Given the description of an element on the screen output the (x, y) to click on. 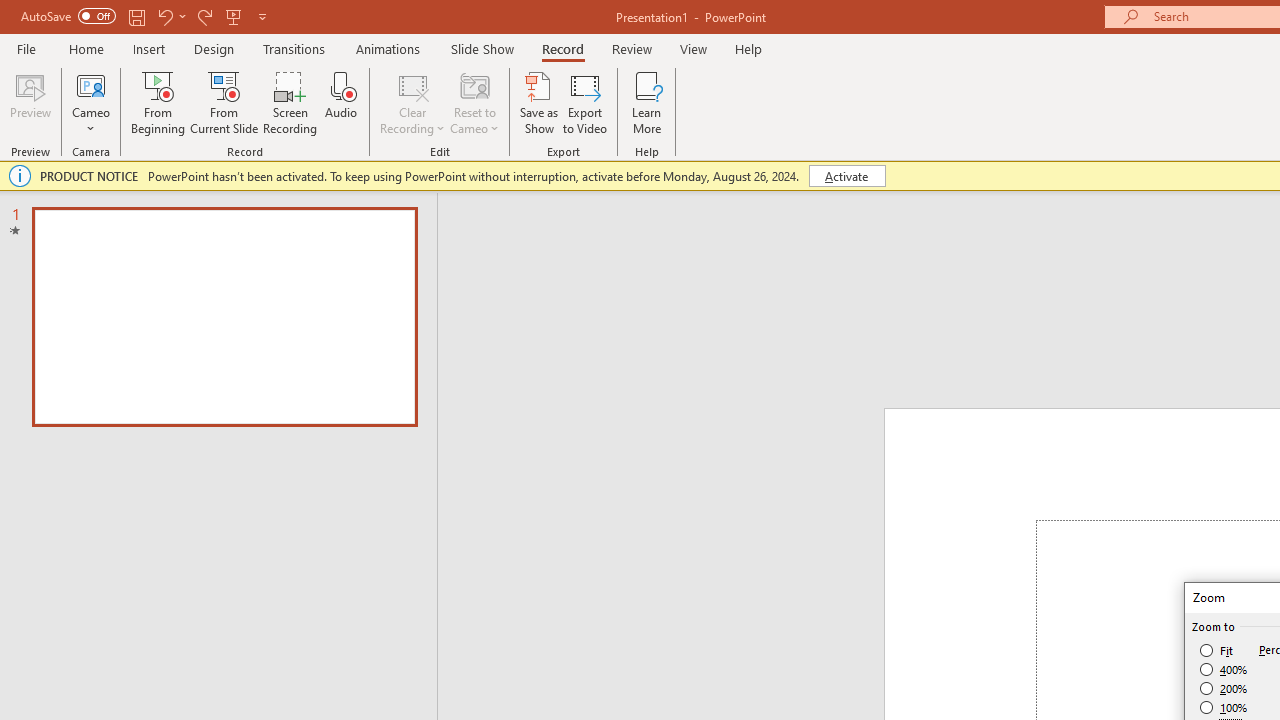
200% (1224, 688)
Screen Recording (290, 102)
Fit (1217, 650)
Export to Video (585, 102)
Activate (846, 175)
